Given the description of an element on the screen output the (x, y) to click on. 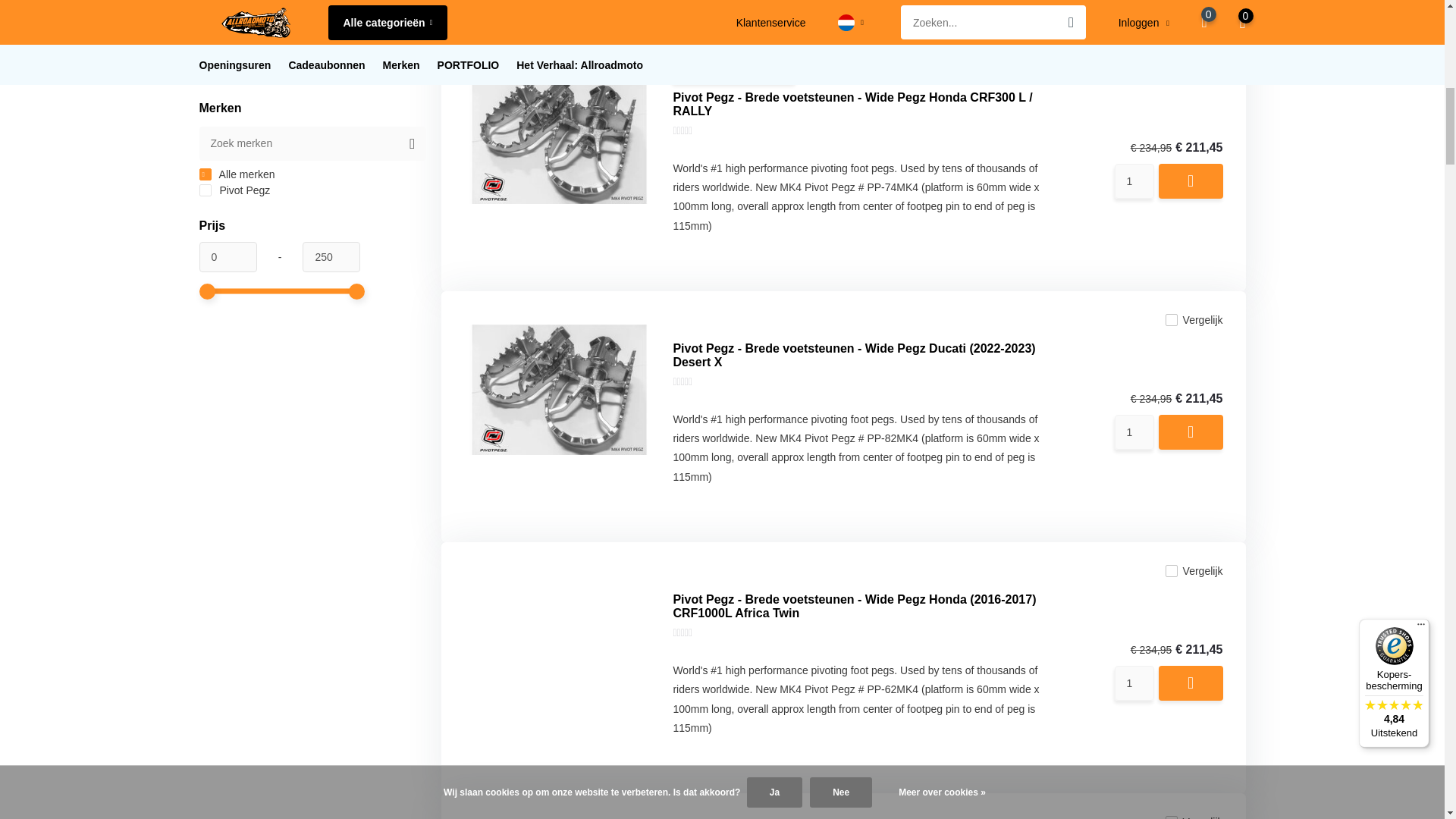
250 (330, 168)
1 (1134, 181)
0 (227, 168)
1 (1134, 431)
1 (1134, 683)
